Given the description of an element on the screen output the (x, y) to click on. 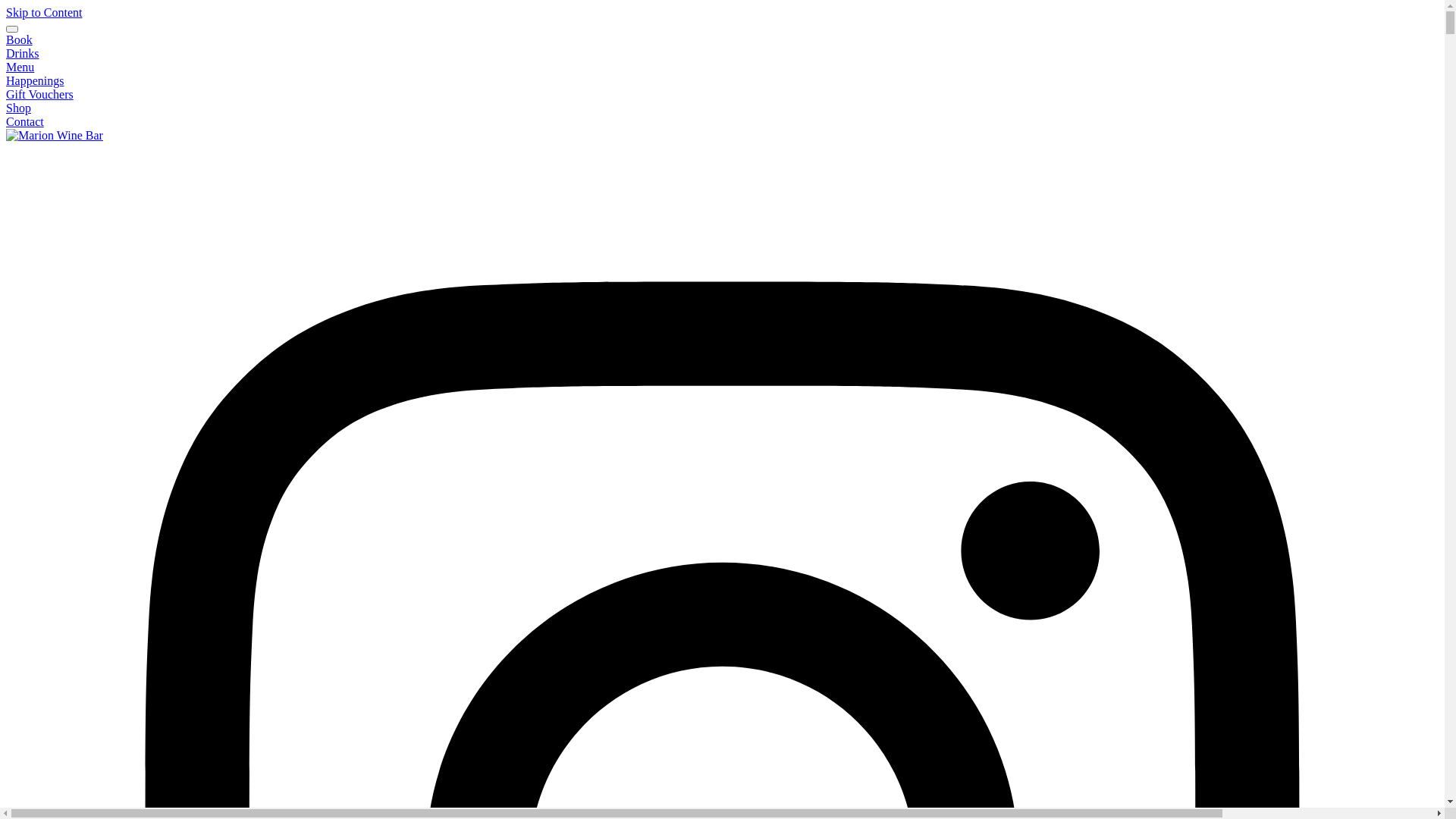
Drinks Element type: text (22, 53)
Menu Element type: text (20, 66)
Contact Element type: text (24, 121)
Happenings Element type: text (34, 80)
Gift Vouchers Element type: text (39, 93)
Skip to Content Element type: text (43, 12)
Shop Element type: text (18, 107)
Book Element type: text (19, 39)
